Given the description of an element on the screen output the (x, y) to click on. 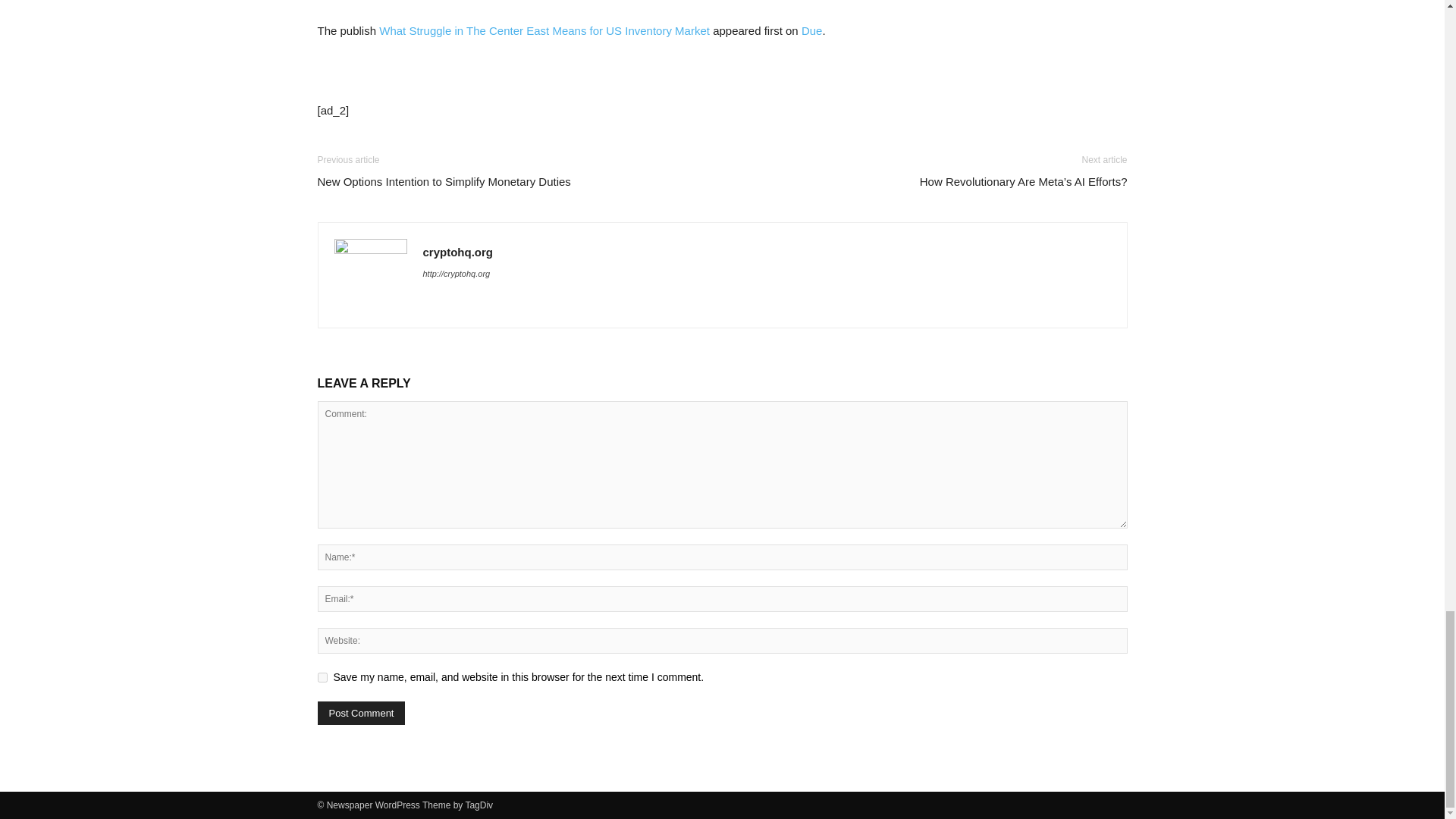
yes (321, 677)
New Options Intention to Simplify Monetary Duties (443, 181)
Due (812, 30)
Post Comment (360, 712)
cryptohq.org (458, 251)
